Given the description of an element on the screen output the (x, y) to click on. 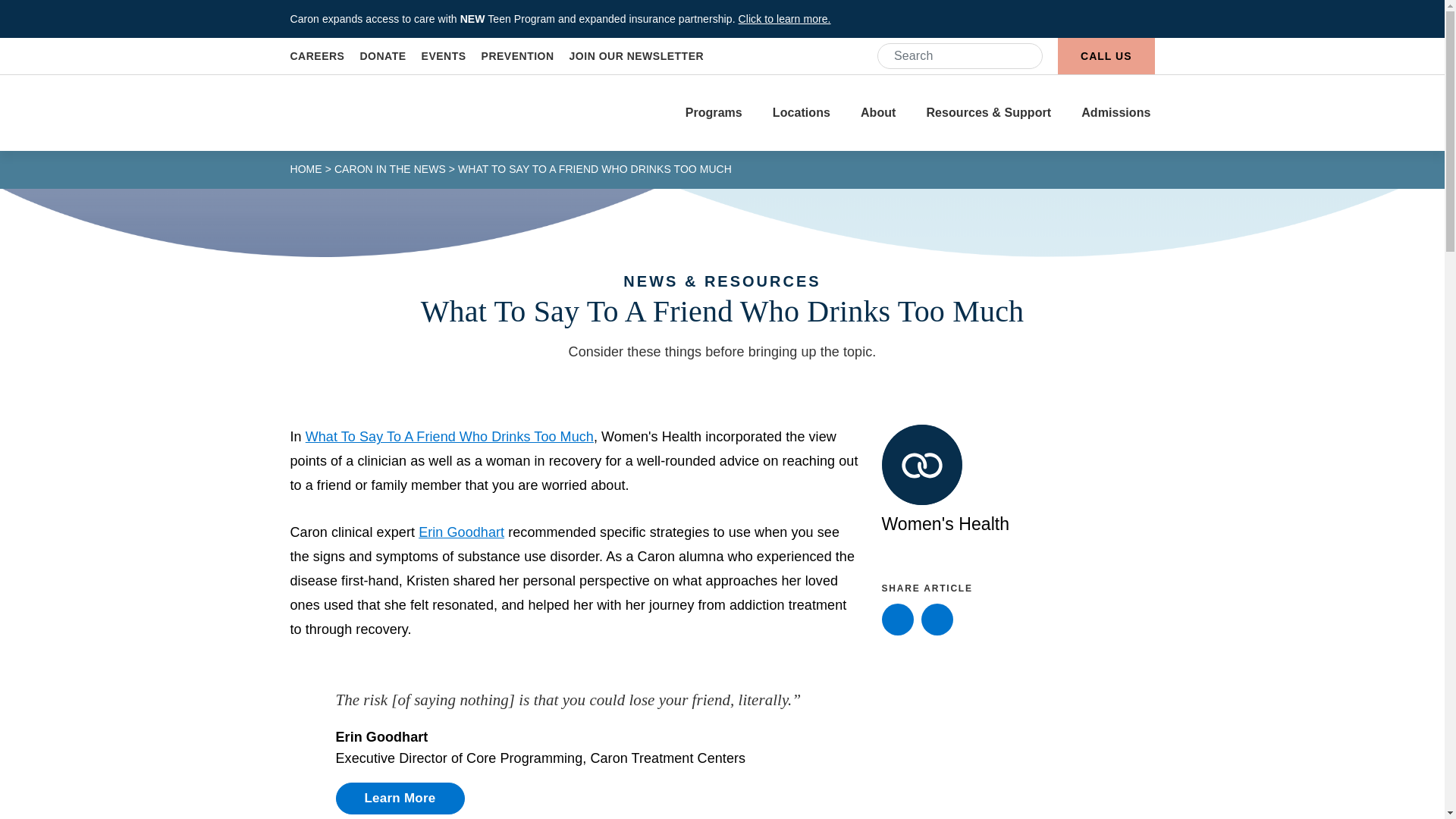
DONATE (382, 55)
EVENTS (443, 55)
Close (1147, 18)
JOIN OUR NEWSLETTER (636, 55)
CAREERS (316, 55)
CALL US (1106, 55)
Caron Logo (348, 112)
Click to learn more. (784, 19)
Search (1024, 55)
PREVENTION (517, 55)
